Given the description of an element on the screen output the (x, y) to click on. 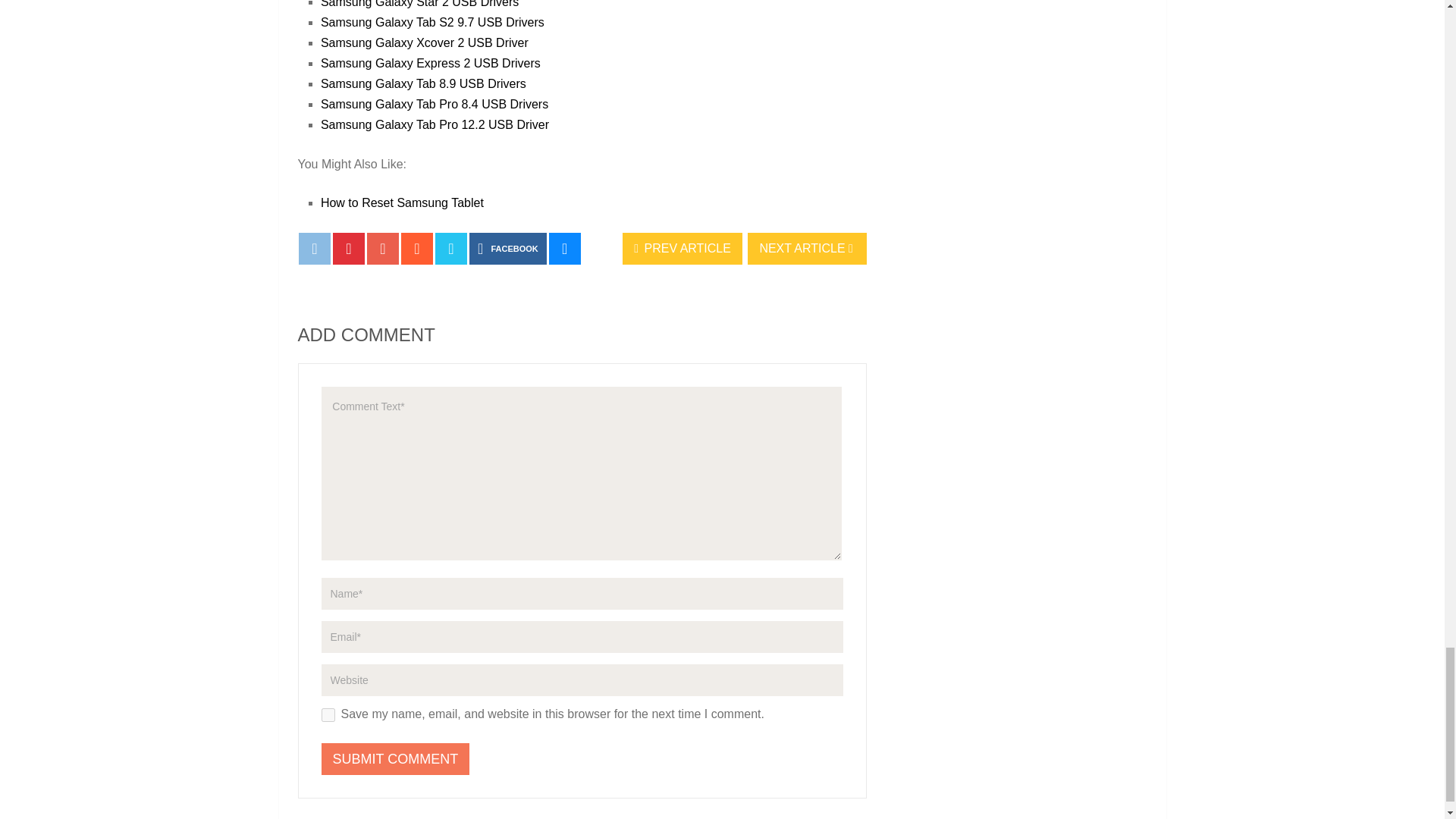
Submit Comment (395, 758)
yes (327, 714)
